Given the description of an element on the screen output the (x, y) to click on. 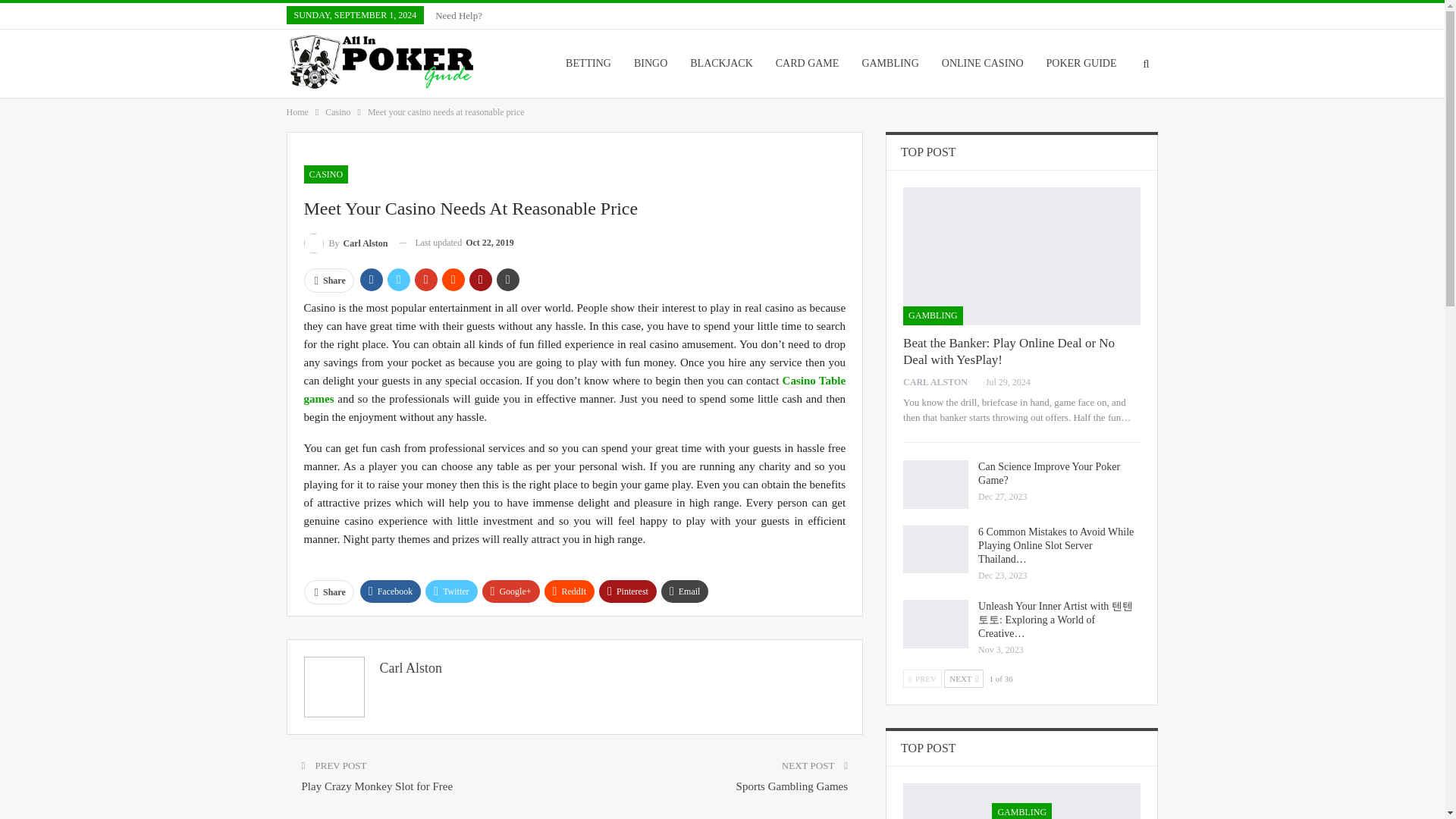
Play Crazy Monkey Slot for Free (376, 786)
ONLINE CASINO (982, 63)
Browse Author Articles (344, 242)
Facebook (390, 590)
By Carl Alston (344, 242)
Casino (337, 112)
Browse Author Articles (943, 381)
Carl Alston (410, 667)
CARD GAME (807, 63)
Twitter (451, 590)
